Given the description of an element on the screen output the (x, y) to click on. 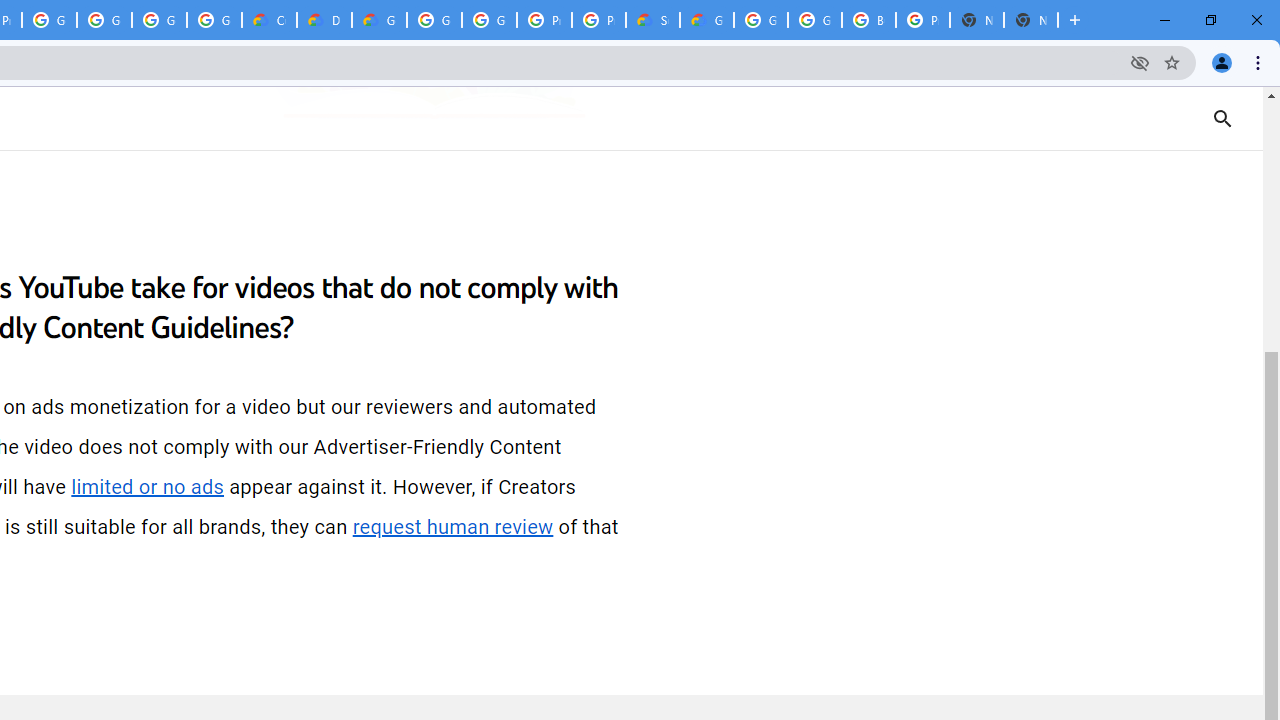
Support Hub | Google Cloud (652, 20)
Google Cloud Platform (434, 20)
